Given the description of an element on the screen output the (x, y) to click on. 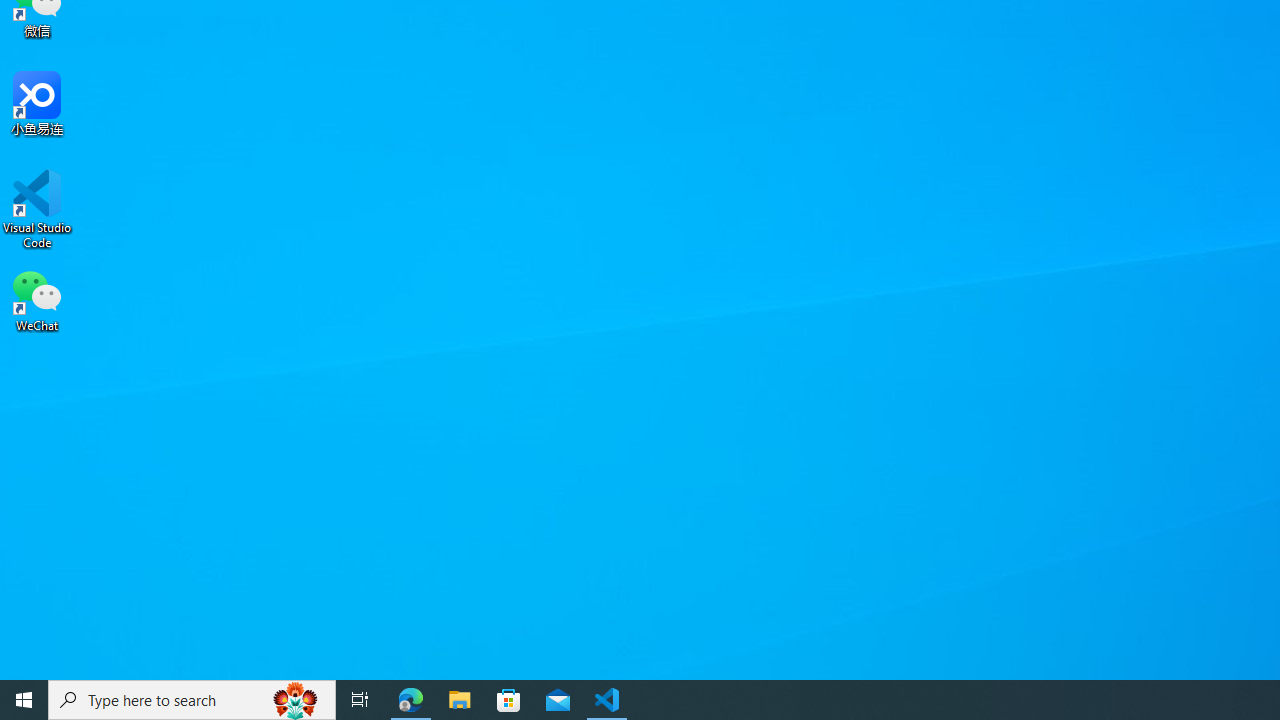
WeChat (37, 299)
Visual Studio Code - 1 running window (607, 699)
Search highlights icon opens search home window (295, 699)
File Explorer (460, 699)
Microsoft Store (509, 699)
Type here to search (191, 699)
Visual Studio Code (37, 209)
Microsoft Edge - 1 running window (411, 699)
Task View (359, 699)
Start (24, 699)
